Given the description of an element on the screen output the (x, y) to click on. 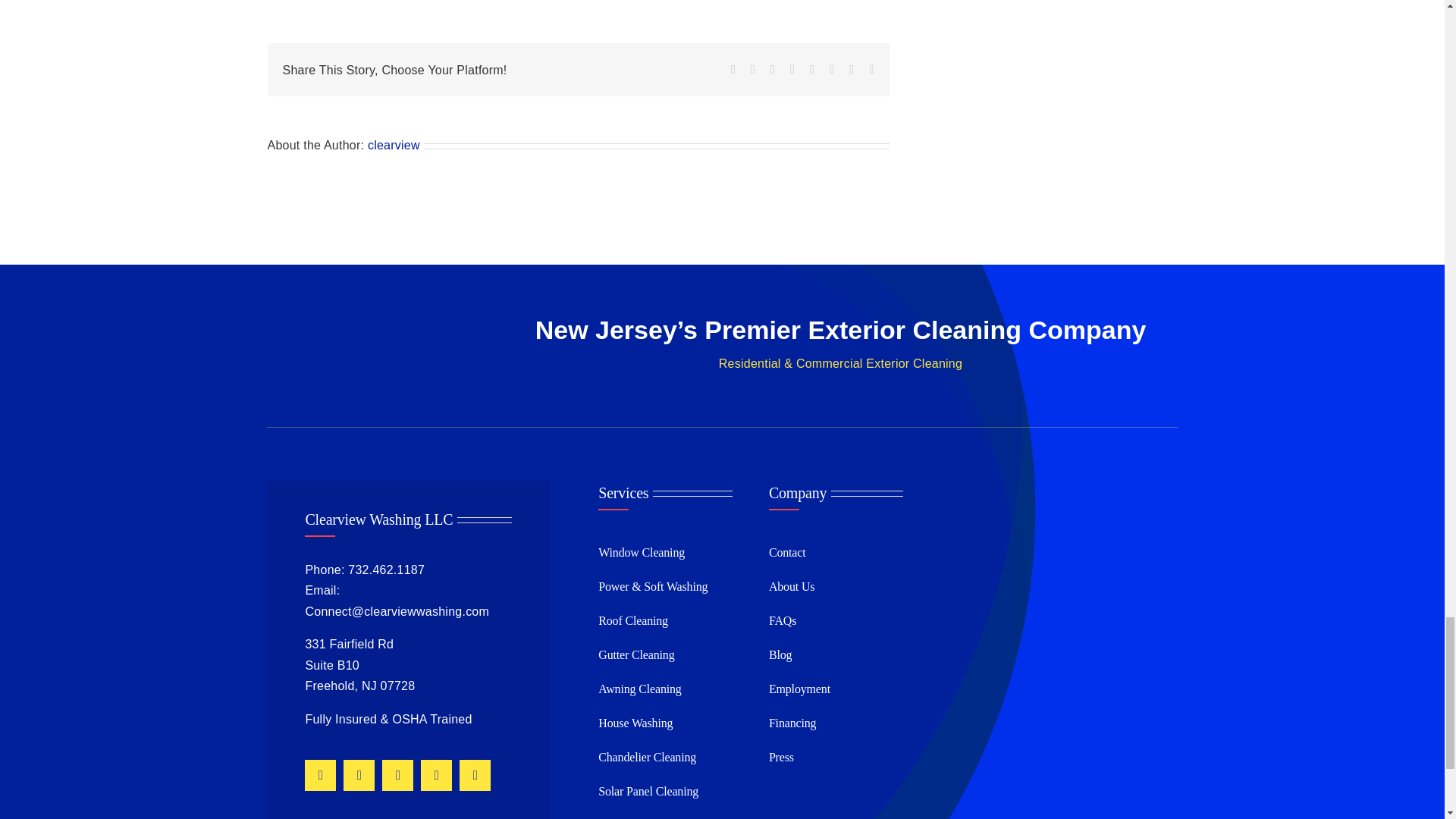
footer-logo (366, 349)
Posts by clearview (394, 144)
